Given the description of an element on the screen output the (x, y) to click on. 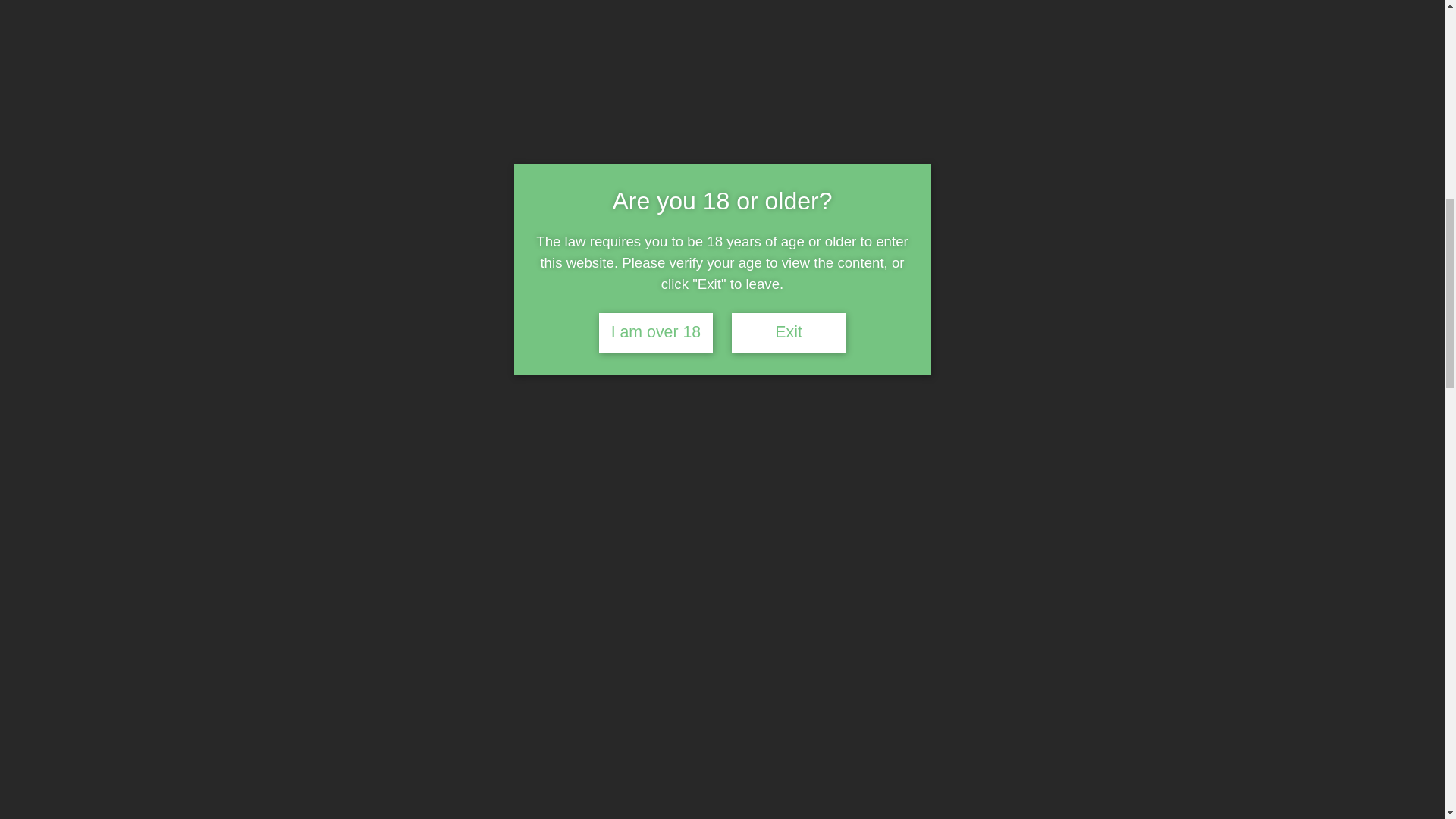
Sign up (1067, 787)
M. Omari Jackson (316, 264)
View all posts by M. Omari Jackson (316, 264)
